Given the description of an element on the screen output the (x, y) to click on. 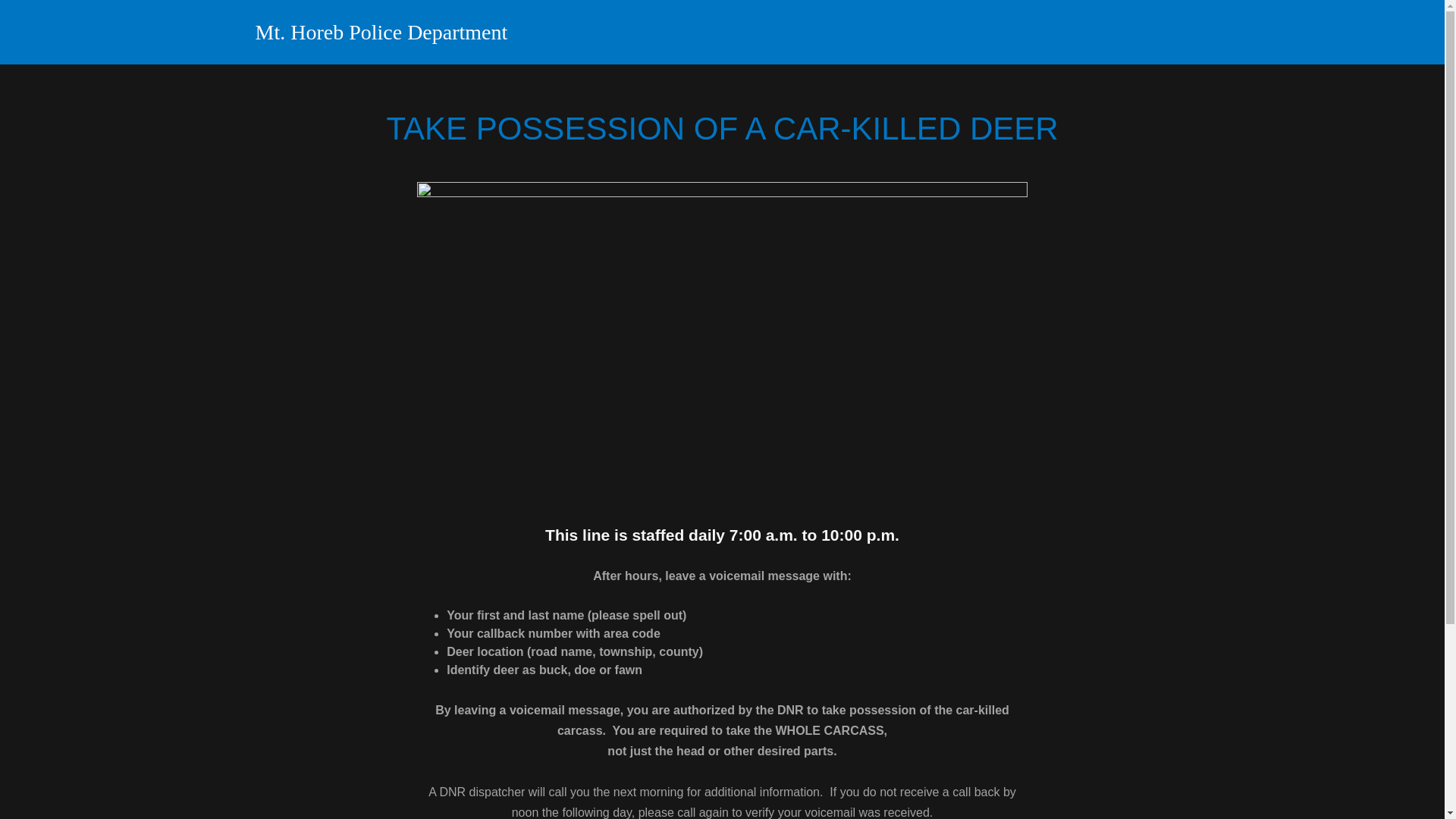
Mt. Horeb Police Department (417, 34)
Mt. Horeb Police Department (417, 34)
